Given the description of an element on the screen output the (x, y) to click on. 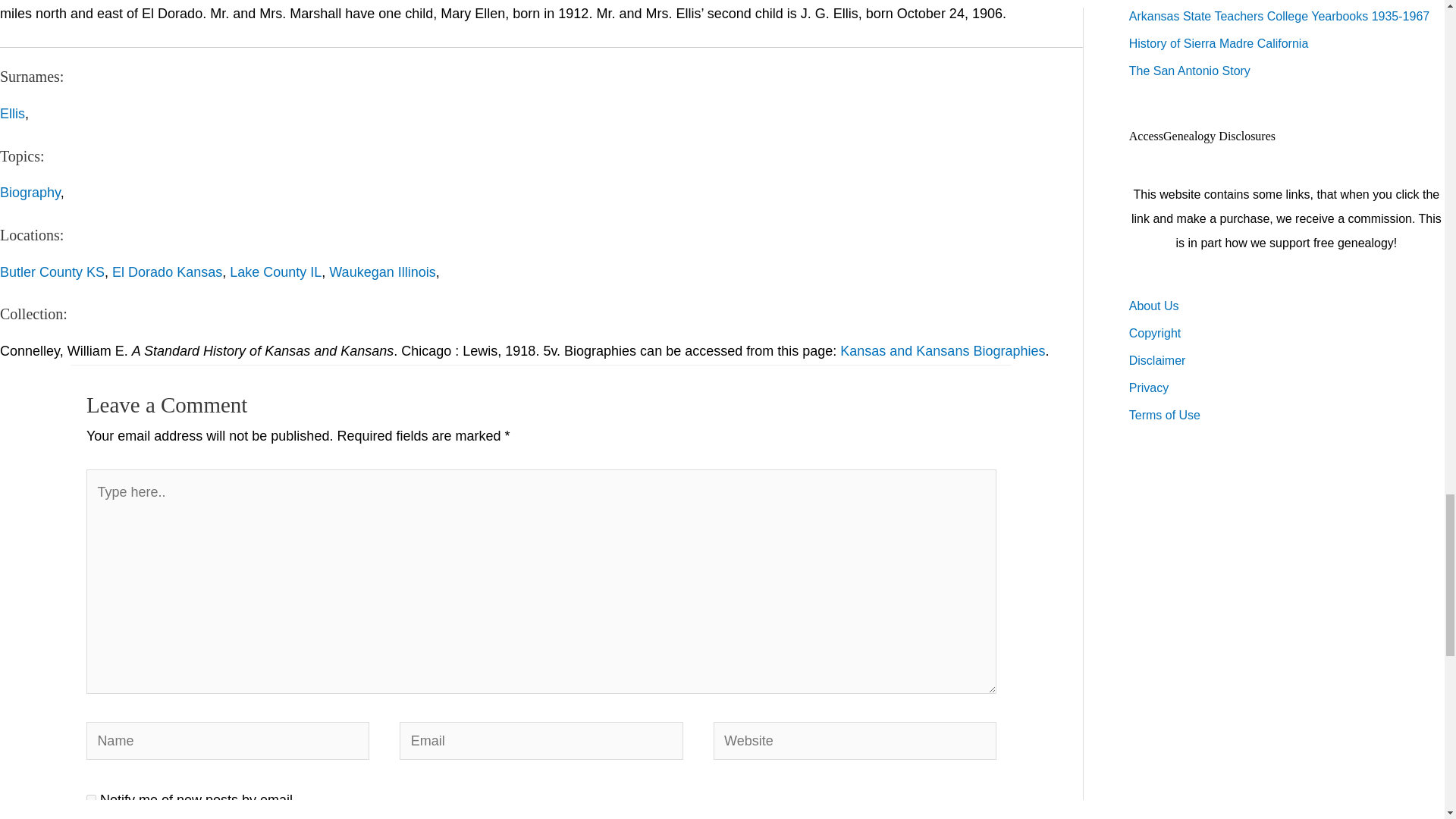
Ellis (12, 113)
Kansas and Kansans Biographies (942, 350)
subscribe (90, 799)
Butler County KS (52, 272)
Lake County IL (275, 272)
Waukegan Illinois (382, 272)
Kansas and Kansans Biographies (942, 350)
El Dorado Kansas (167, 272)
Biography (30, 192)
